Given the description of an element on the screen output the (x, y) to click on. 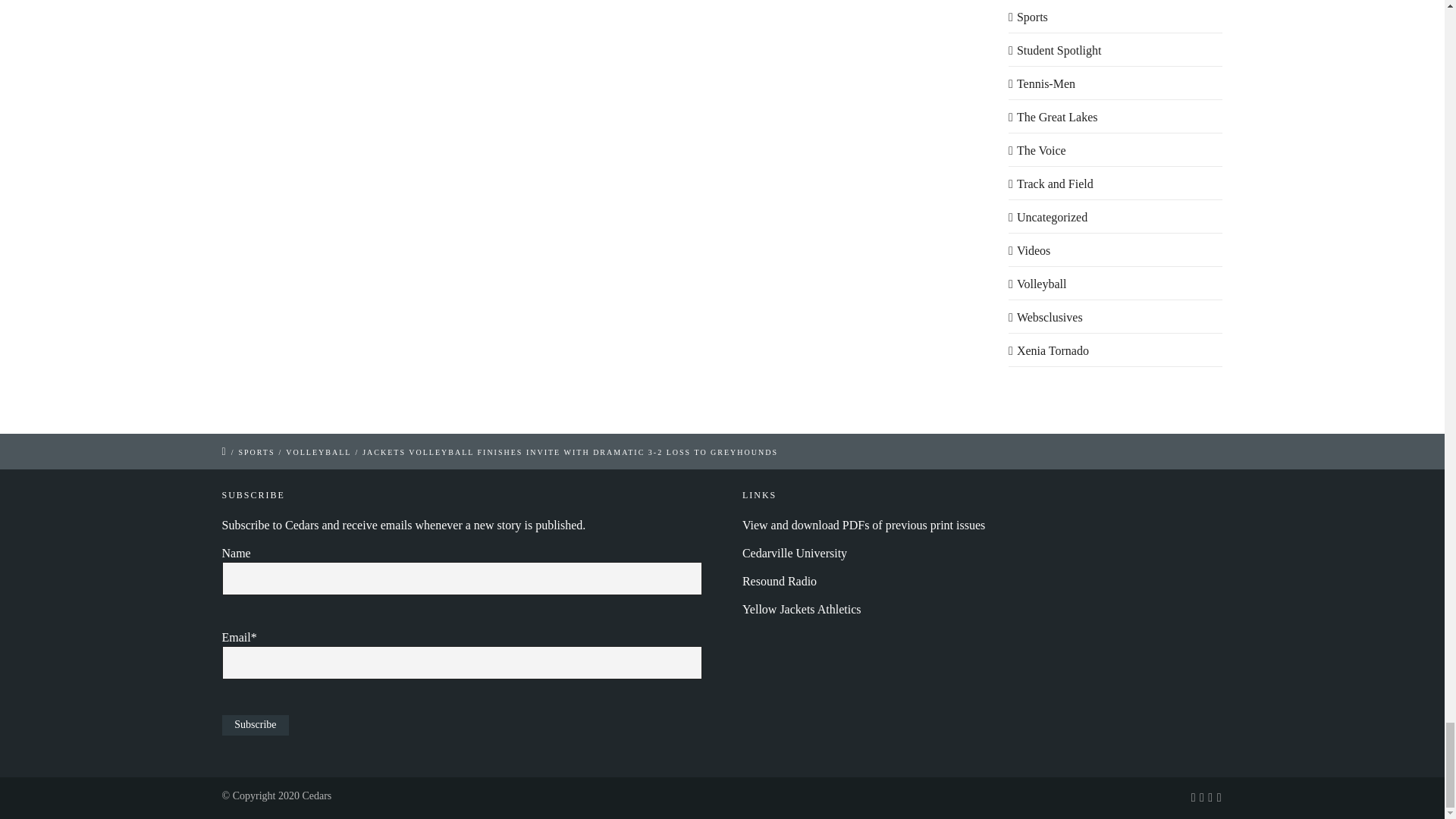
Cedarville University (794, 553)
Previous issues (863, 524)
Subscribe (254, 724)
Resound Radio (779, 581)
Yellow Jackets Athletics (801, 608)
